Given the description of an element on the screen output the (x, y) to click on. 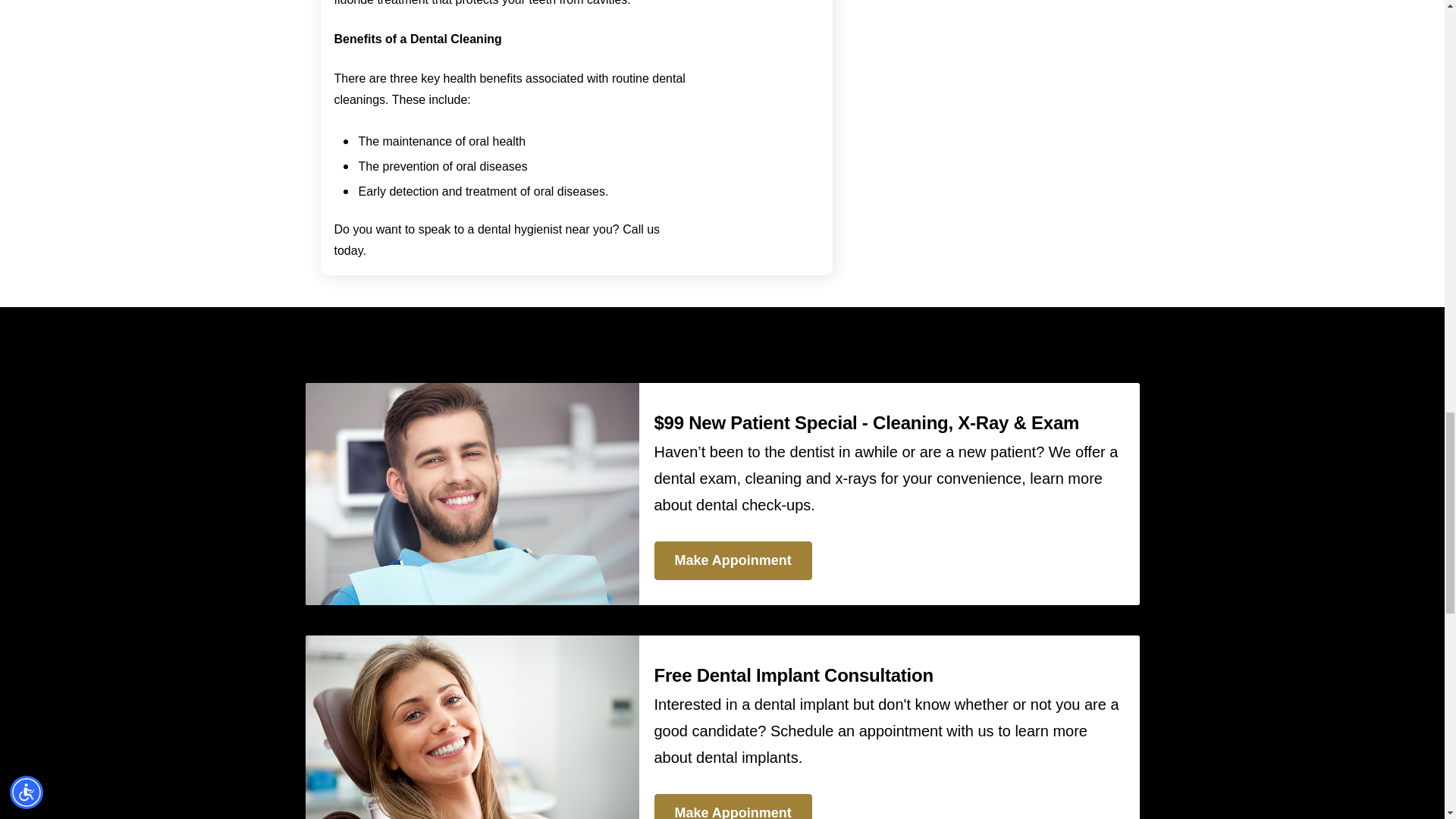
Make Appoinment (731, 560)
Make Appoinment (731, 806)
